Given the description of an element on the screen output the (x, y) to click on. 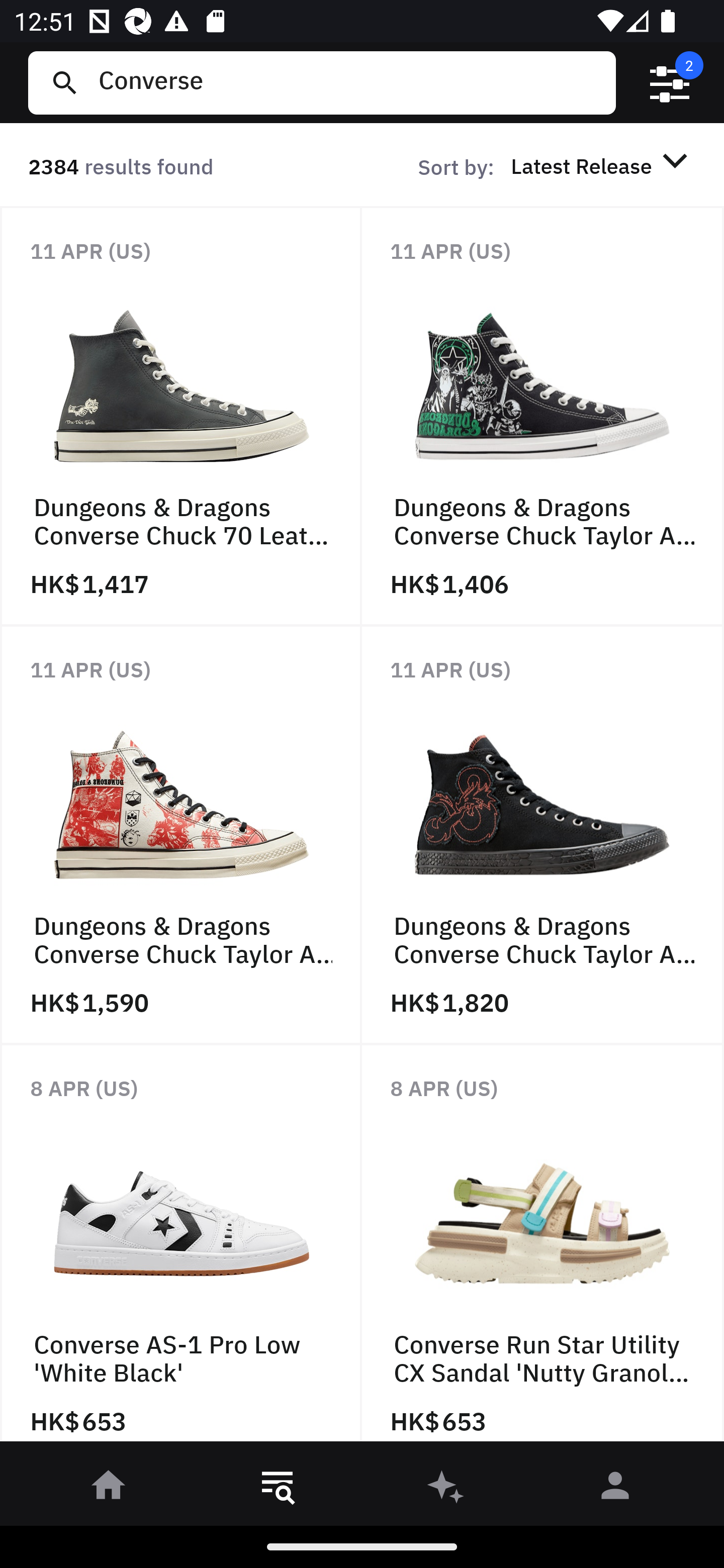
Converse (349, 82)
 (669, 82)
Latest Release  (602, 165)
󰋜 (108, 1488)
󱎸 (277, 1488)
󰫢 (446, 1488)
󰀄 (615, 1488)
